Given the description of an element on the screen output the (x, y) to click on. 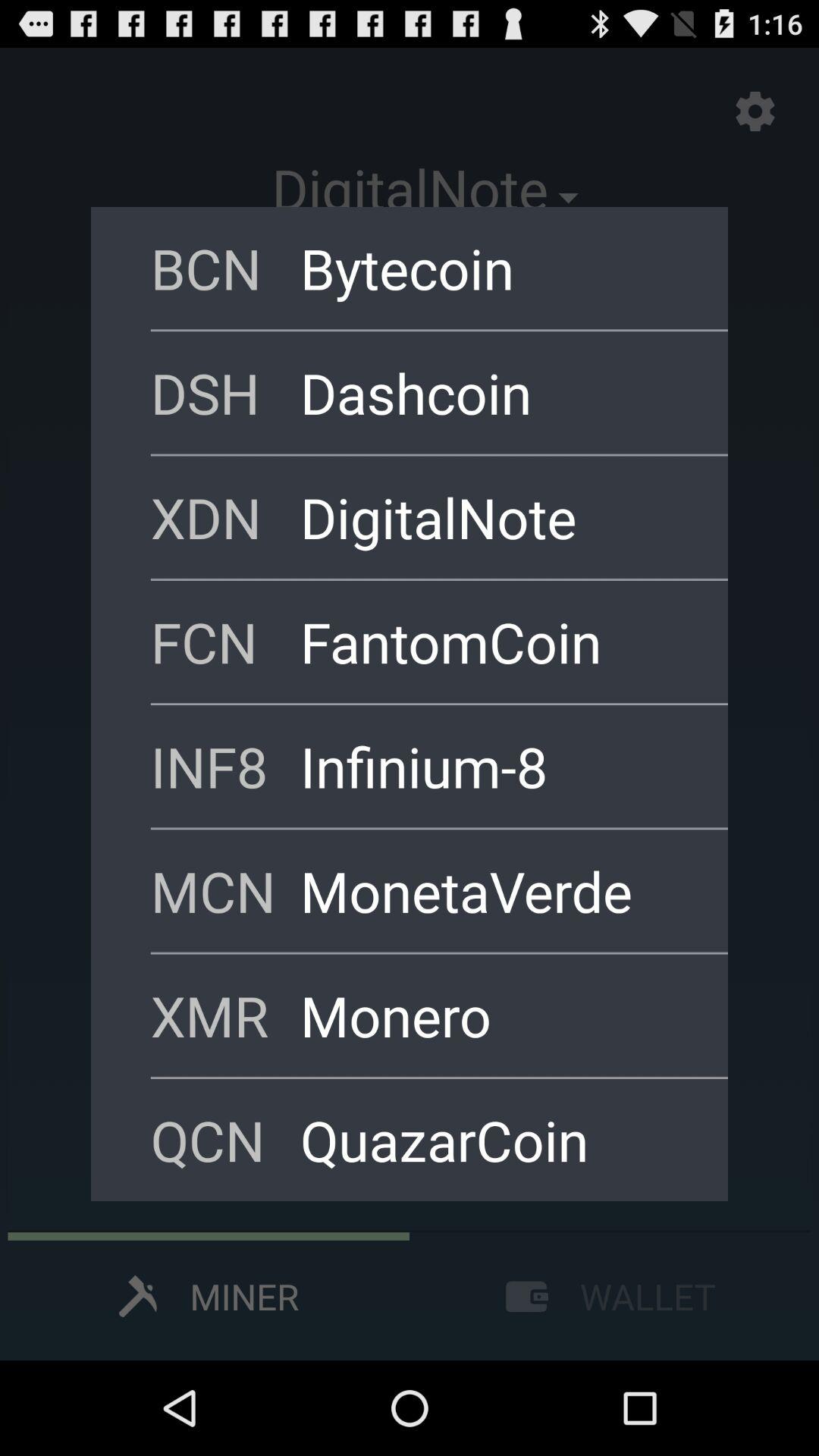
press item next to xdn icon (494, 517)
